Given the description of an element on the screen output the (x, y) to click on. 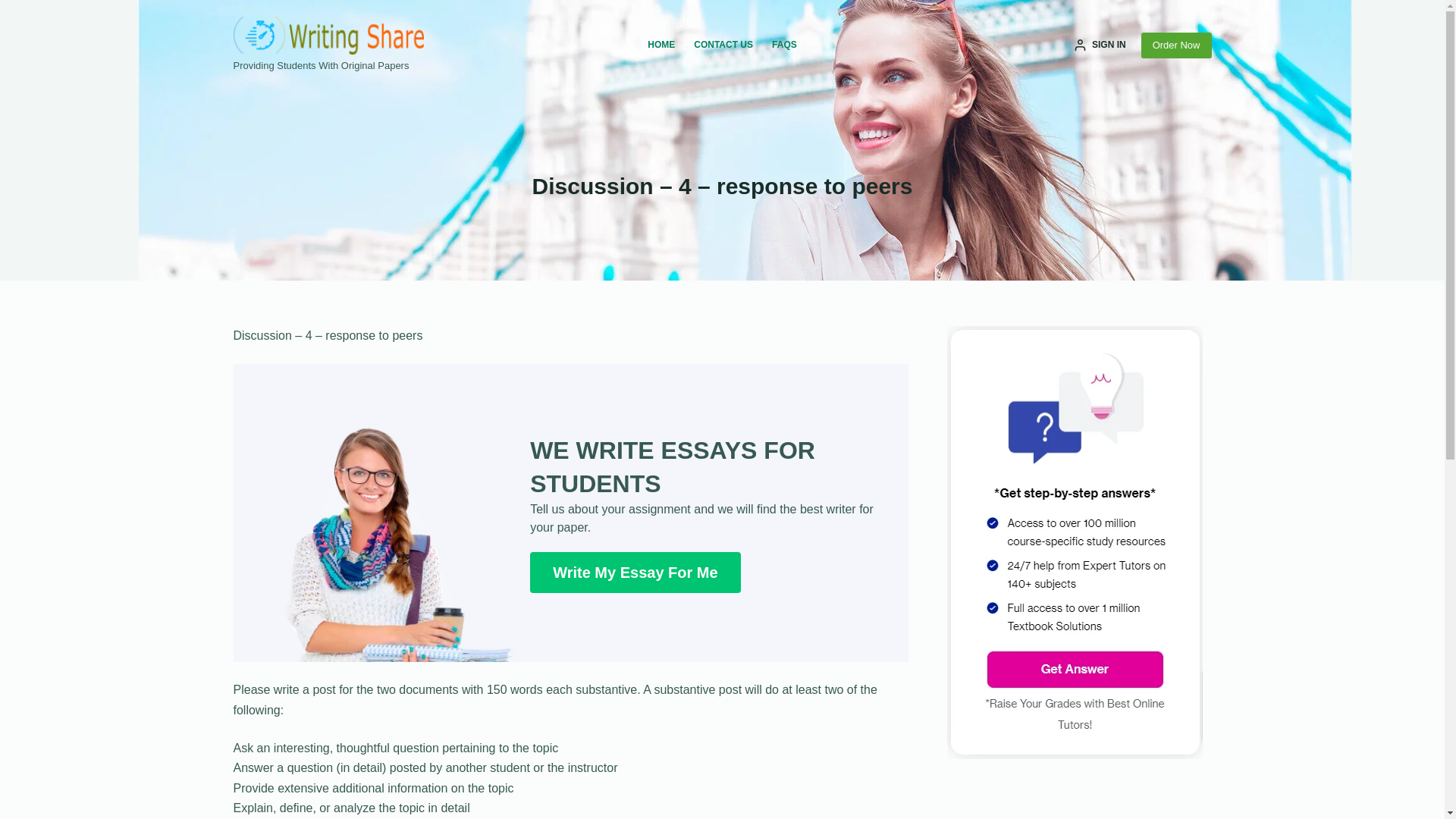
Order Now (1176, 45)
Write My Essay For Me (634, 572)
Skip to content (15, 7)
SIGN IN (1099, 45)
